Given the description of an element on the screen output the (x, y) to click on. 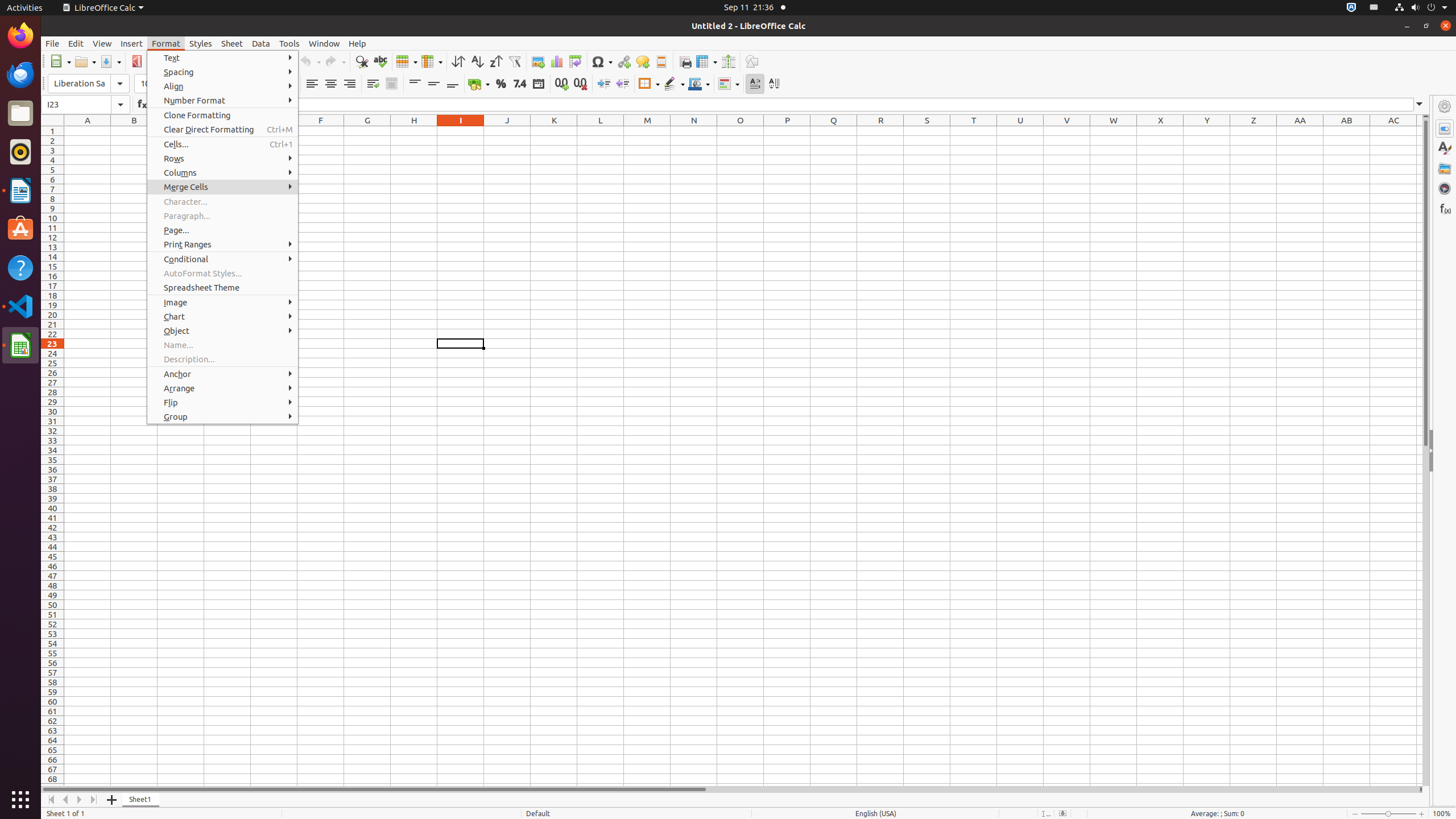
Columns Element type: menu (222, 172)
Merge Cells Element type: menu (222, 186)
O1 Element type: table-cell (740, 130)
Spelling Element type: push-button (379, 61)
Paragraph... Element type: menu-item (222, 215)
